Given the description of an element on the screen output the (x, y) to click on. 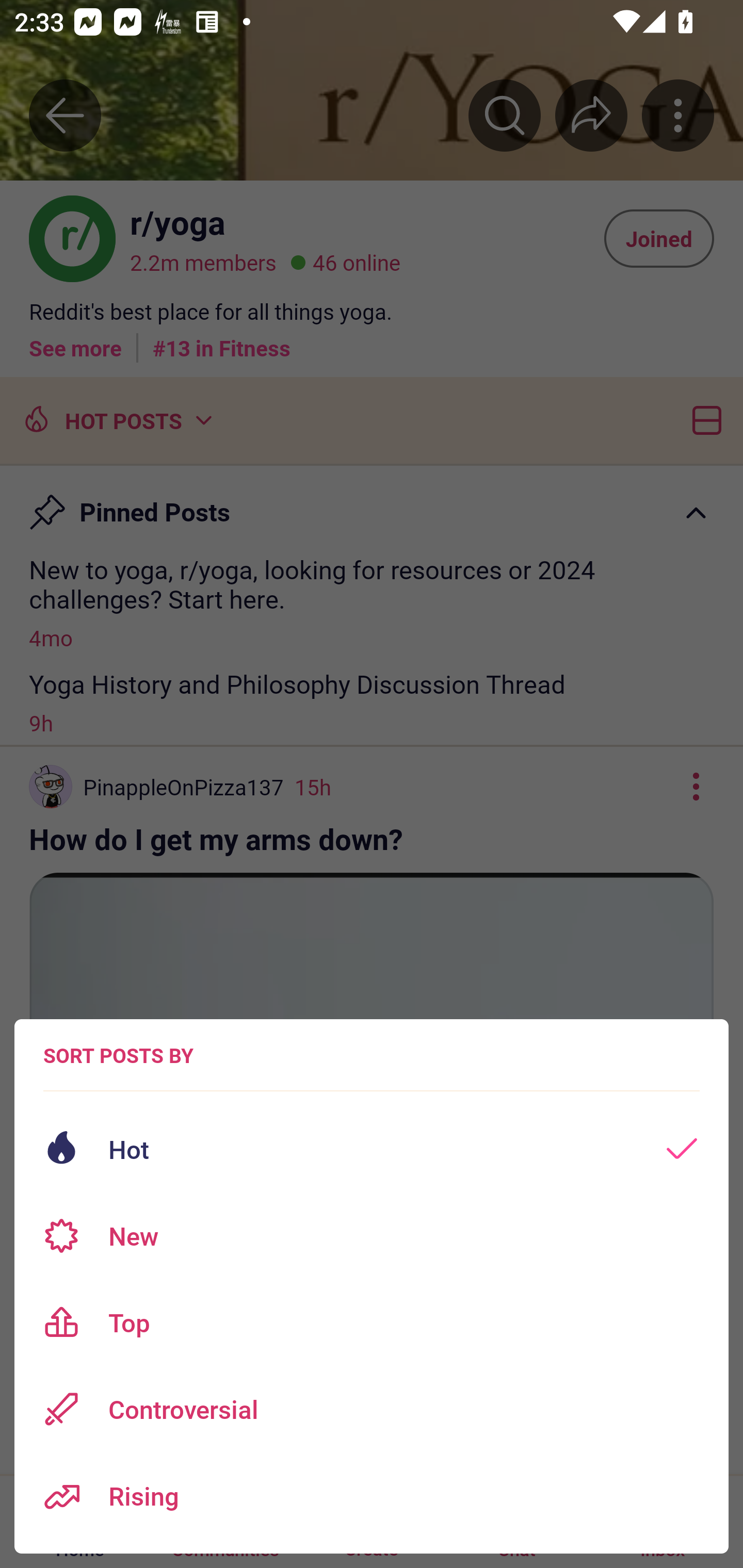
SORT POSTS BY Sort posts options (118, 1055)
Hot (371, 1149)
New (371, 1236)
Top (371, 1322)
Controversial (371, 1408)
Rising (371, 1495)
